Given the description of an element on the screen output the (x, y) to click on. 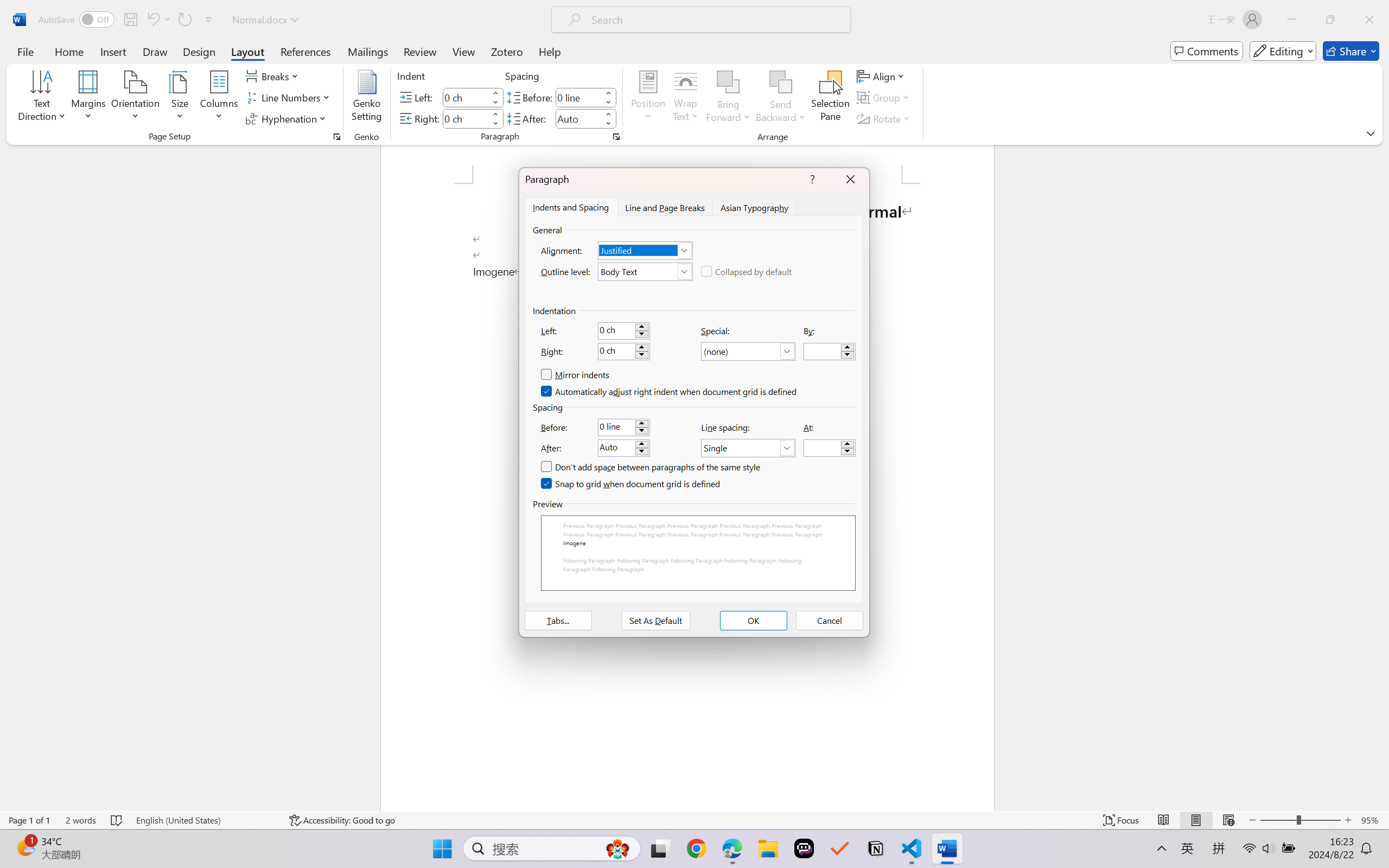
Poe (804, 848)
Margins (88, 97)
Left: (623, 330)
Zoom 95% (1372, 819)
Mirror indents (575, 374)
Alignment: (645, 250)
